Given the description of an element on the screen output the (x, y) to click on. 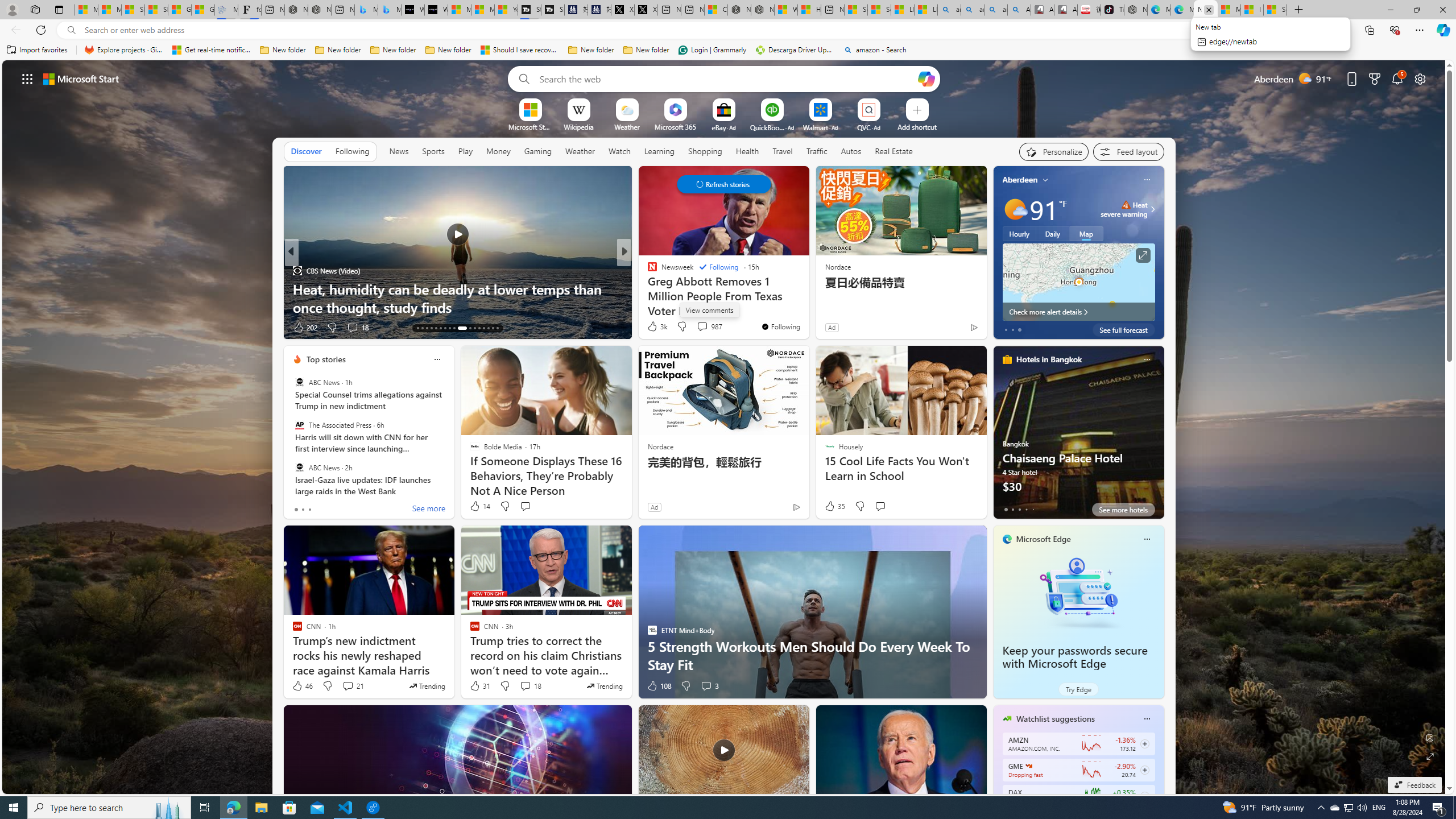
amazon - Search (972, 9)
AutomationID: tab-22 (461, 328)
Money (497, 151)
App bar (728, 29)
Play (465, 151)
AutomationID: backgroundImagePicture (723, 426)
Aberdeen (1019, 179)
GAMESTOP CORP. (1028, 765)
Favorites bar (728, 49)
Learning (658, 151)
Traffic (816, 151)
My location (1045, 179)
New Tab (1299, 9)
